Given the description of an element on the screen output the (x, y) to click on. 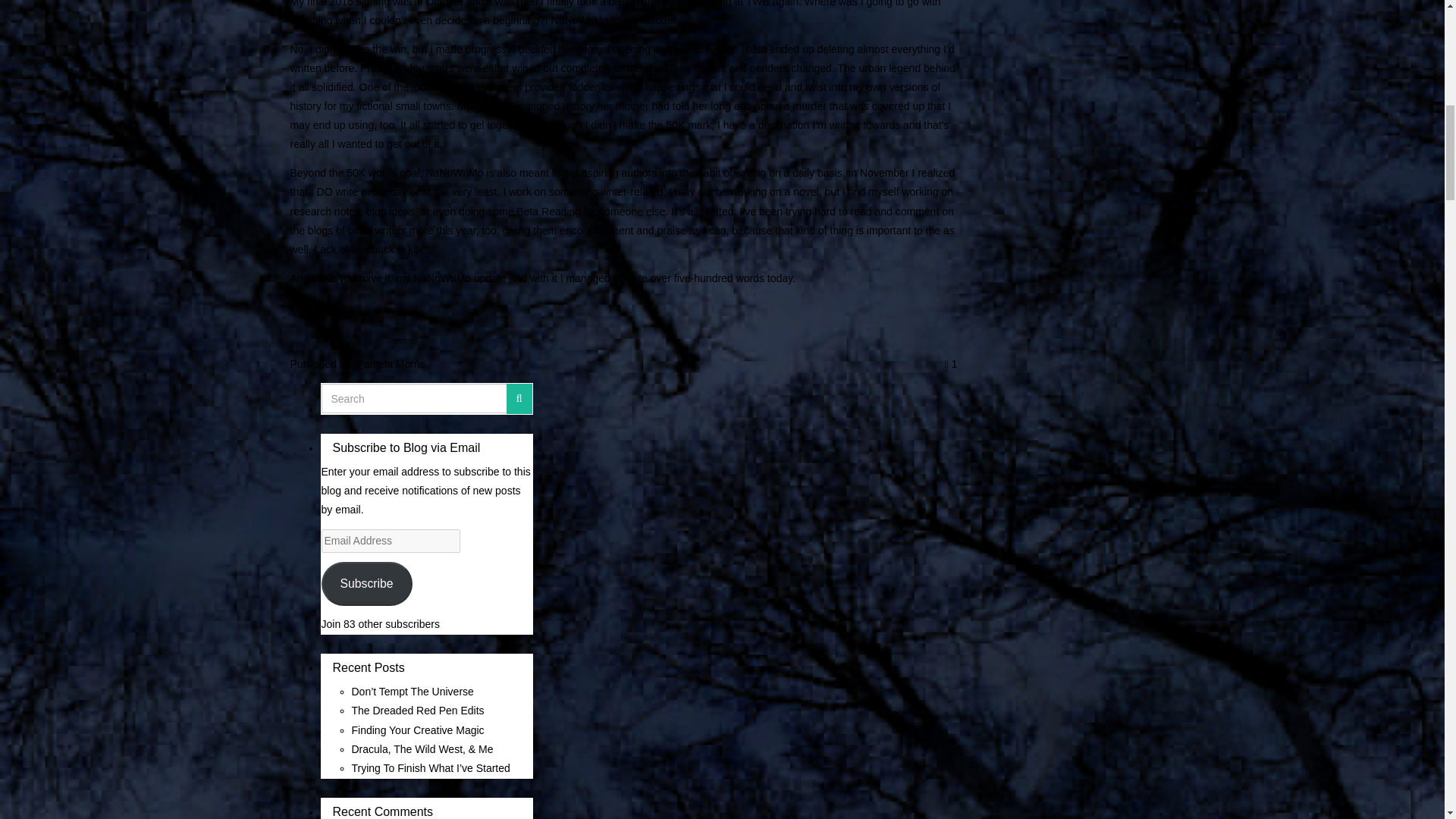
The Dreaded Red Pen Edits (418, 710)
Subscribe (366, 583)
Pamela Morris (390, 363)
1 (951, 363)
